Given the description of an element on the screen output the (x, y) to click on. 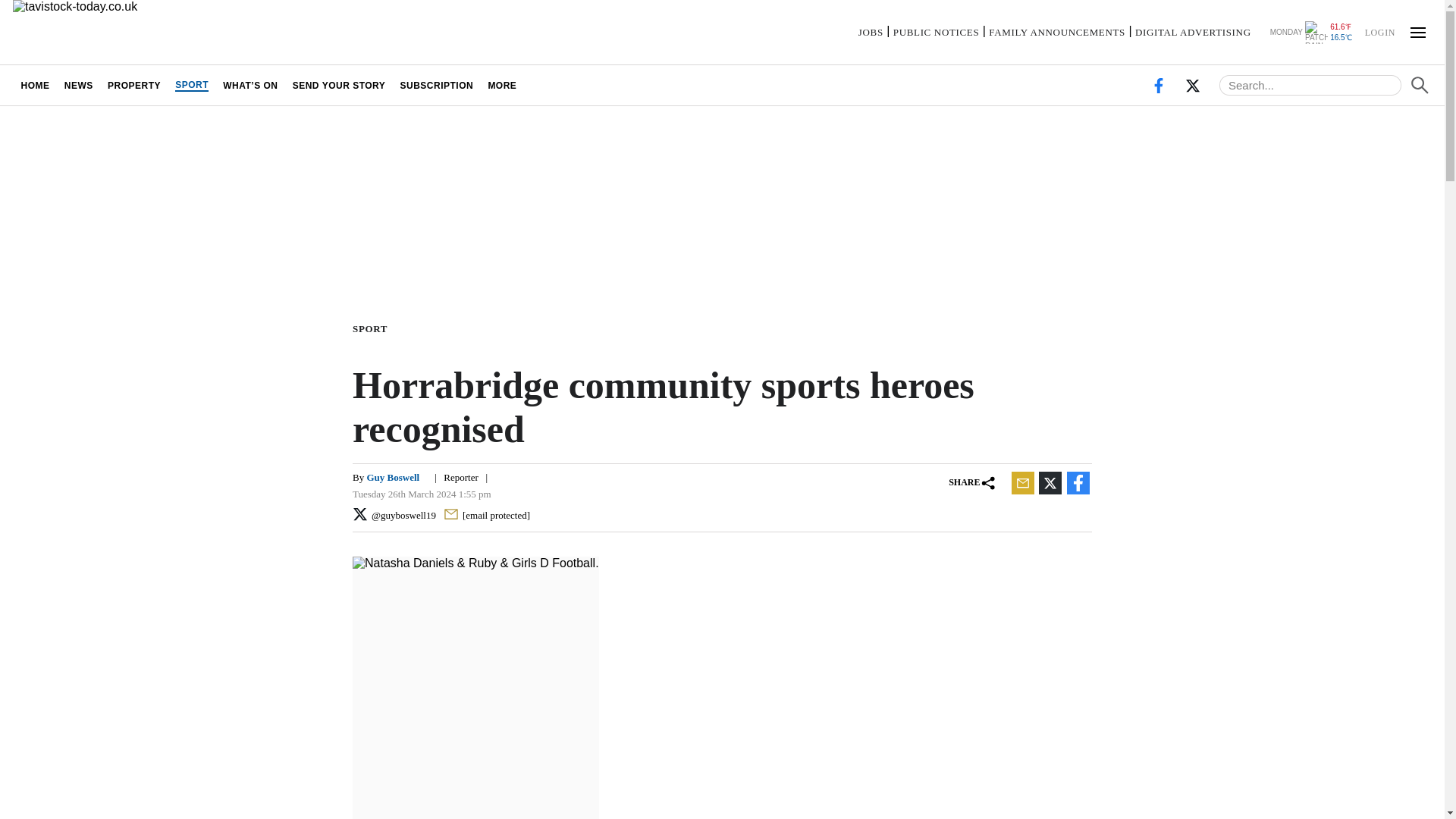
LOGIN (1379, 31)
PROPERTY (133, 85)
SPORT (372, 328)
SEND YOUR STORY (339, 85)
Guy Boswell (392, 477)
MORE (502, 85)
DIGITAL ADVERTISING (1192, 32)
HOME (34, 85)
SUBSCRIPTION (436, 85)
SPORT (191, 85)
NEWS (78, 85)
